Given the description of an element on the screen output the (x, y) to click on. 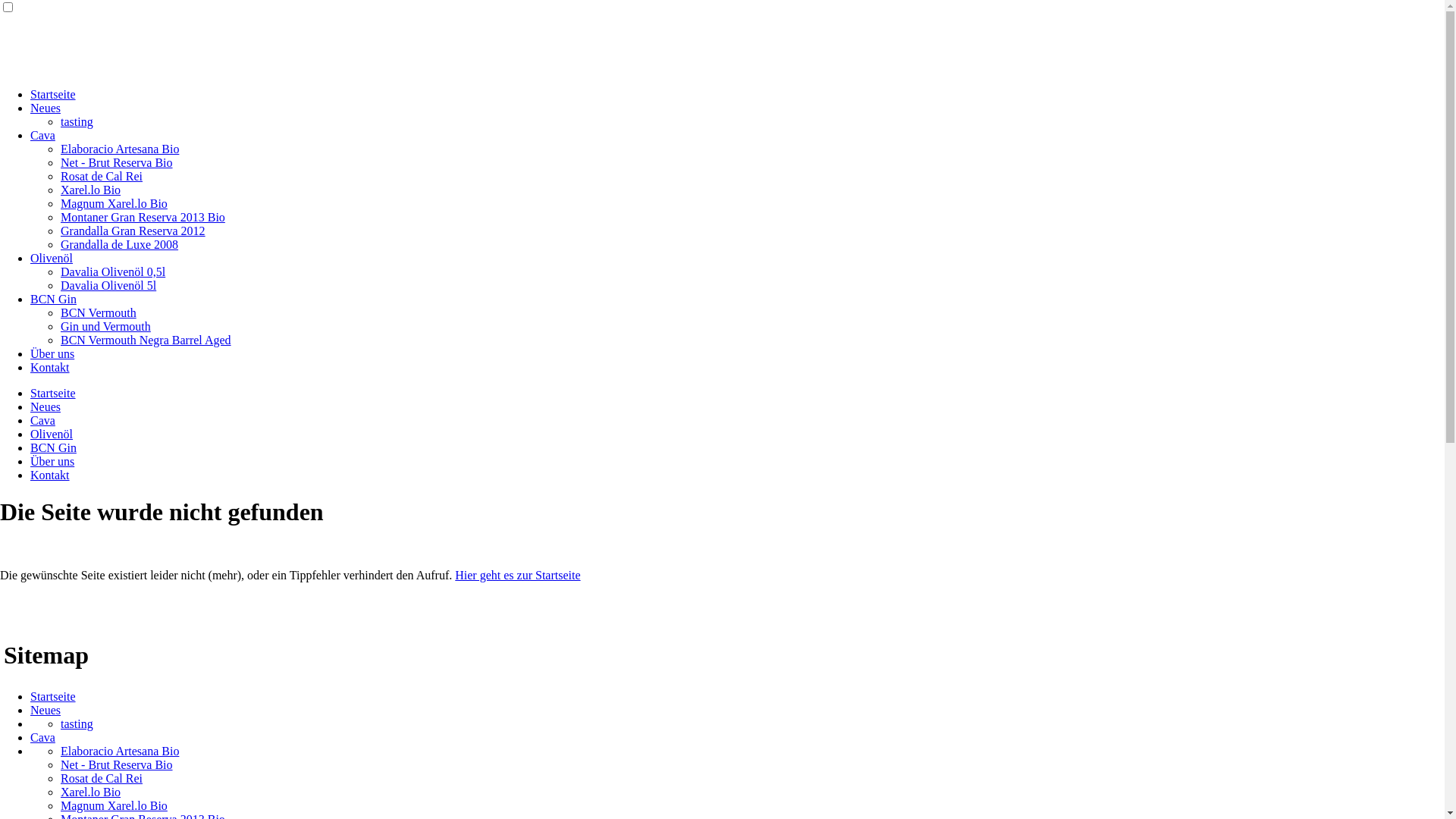
BCN Gin Element type: text (53, 447)
Net - Brut Reserva Bio Element type: text (116, 764)
Cava Element type: text (42, 134)
Montaner Gran Reserva 2013 Bio Element type: text (142, 216)
Kontakt Element type: text (49, 474)
Startseite Element type: text (52, 93)
Rosat de Cal Rei Element type: text (101, 175)
Rosat de Cal Rei Element type: text (101, 777)
Neues Element type: text (45, 107)
Startseite Element type: text (52, 392)
Xarel.lo Bio Element type: text (90, 791)
Elaboracio Artesana Bio Element type: text (119, 750)
Kontakt Element type: text (49, 366)
Xarel.lo Bio Element type: text (90, 189)
Net - Brut Reserva Bio Element type: text (116, 162)
Cava Element type: text (42, 420)
Elaboracio Artesana Bio Element type: text (119, 148)
BCN Gin Element type: text (53, 298)
Gin und Vermouth Element type: text (105, 326)
Grandalla Gran Reserva 2012 Element type: text (132, 230)
Neues Element type: text (45, 406)
Magnum Xarel.lo Bio Element type: text (113, 805)
Hier geht es zur Startseite Element type: text (517, 574)
Neues Element type: text (45, 709)
tasting Element type: text (76, 121)
Startseite Element type: text (52, 696)
Grandalla de Luxe 2008 Element type: text (119, 244)
Magnum Xarel.lo Bio Element type: text (113, 203)
Cava Element type: text (42, 737)
tasting Element type: text (76, 723)
BCN Vermouth Negra Barrel Aged Element type: text (145, 339)
BCN Vermouth Element type: text (98, 312)
